Given the description of an element on the screen output the (x, y) to click on. 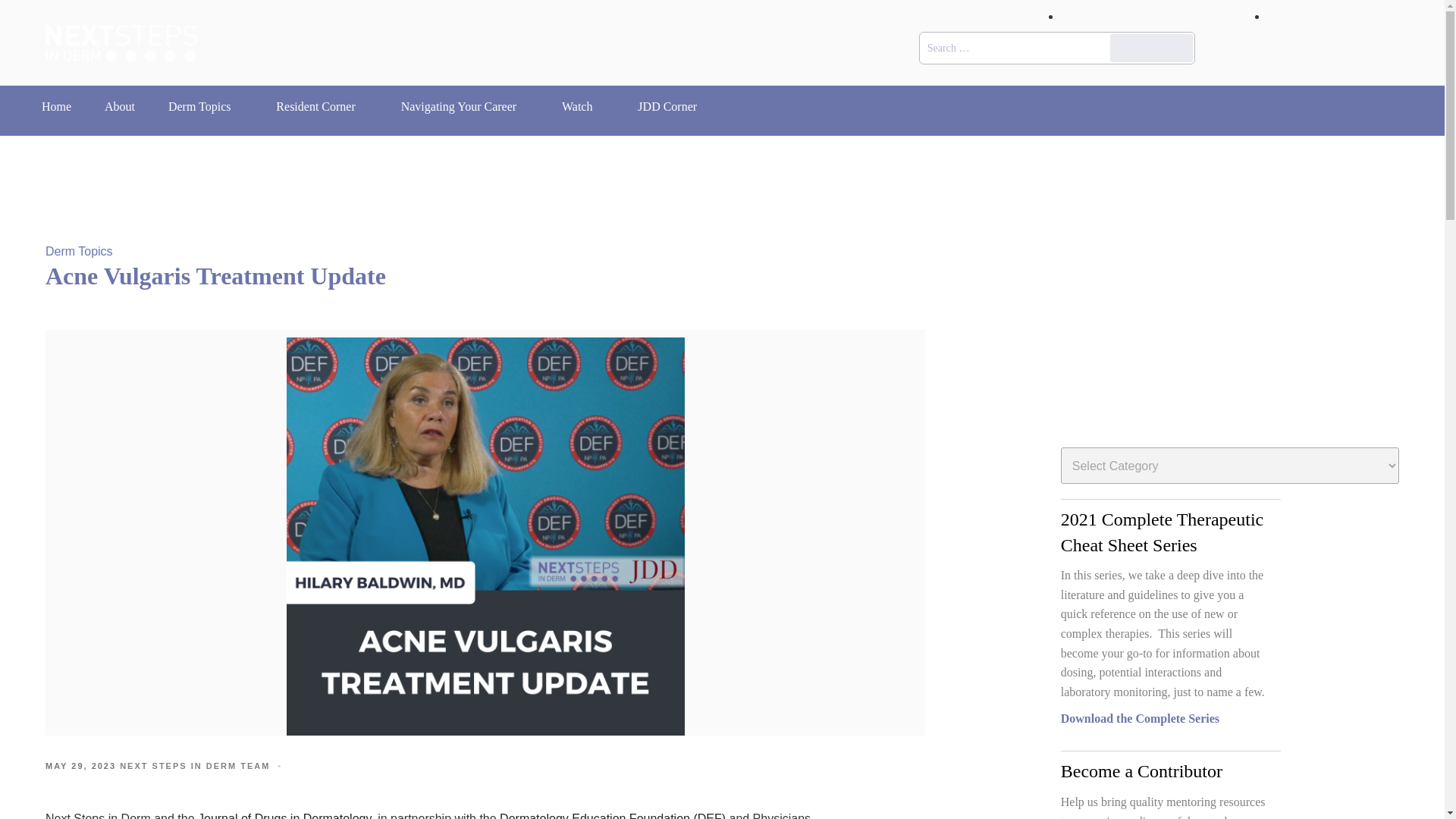
Resident Corner (320, 106)
NEXT STEPS IN DERMATOLOGY (285, 101)
Derm Topics (205, 106)
Search (1150, 48)
Download the Best Articles of Next Steps (1230, 718)
About (118, 106)
Home (55, 106)
Navigating Your Career (464, 106)
